Given the description of an element on the screen output the (x, y) to click on. 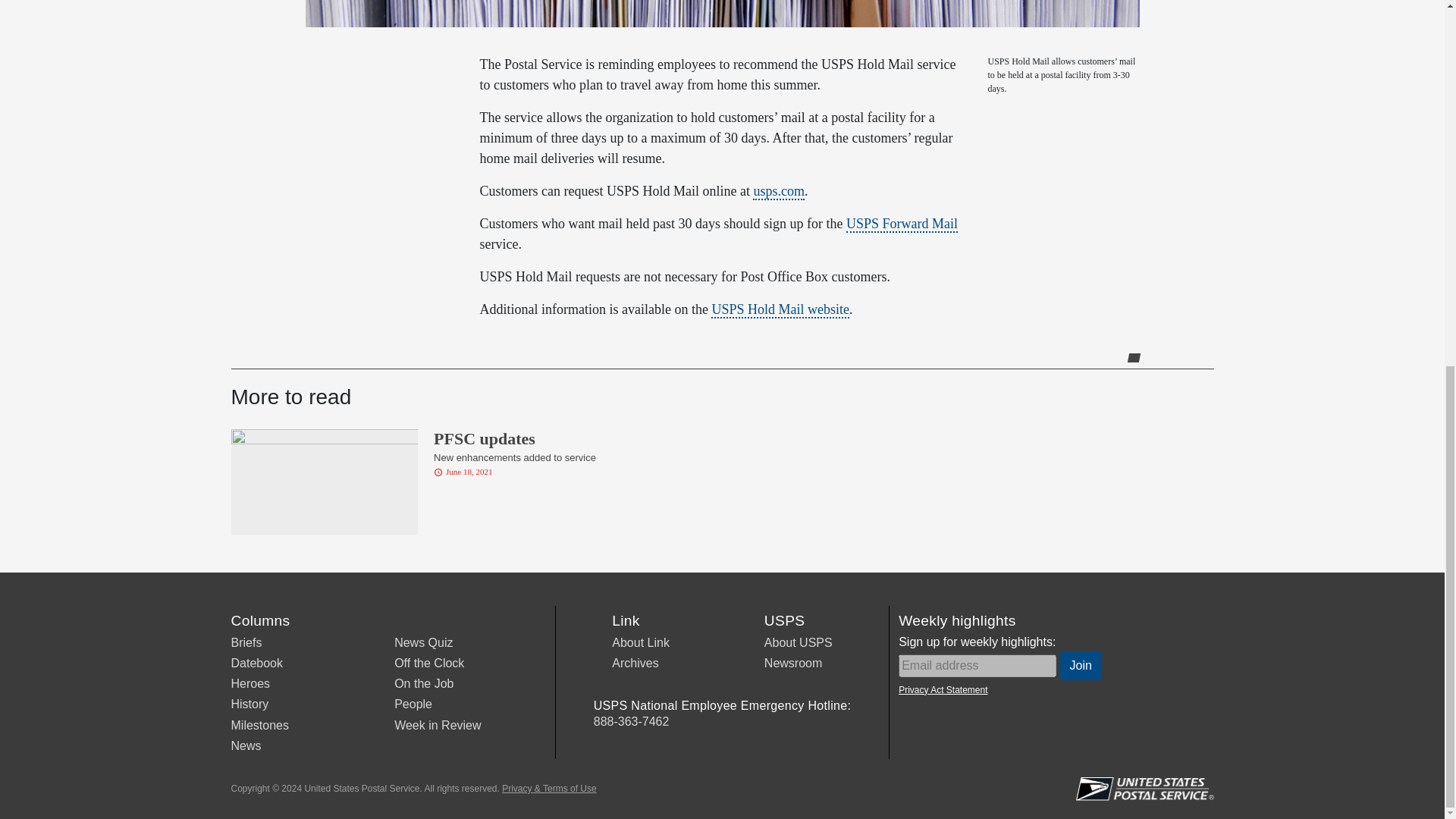
Datebook (256, 662)
Join (1080, 665)
Off the Clock (429, 662)
People (497, 477)
USPS Hold Mail website (413, 703)
Archives (779, 310)
About Link (634, 662)
Heroes (640, 642)
Week in Review (249, 683)
